Given the description of an element on the screen output the (x, y) to click on. 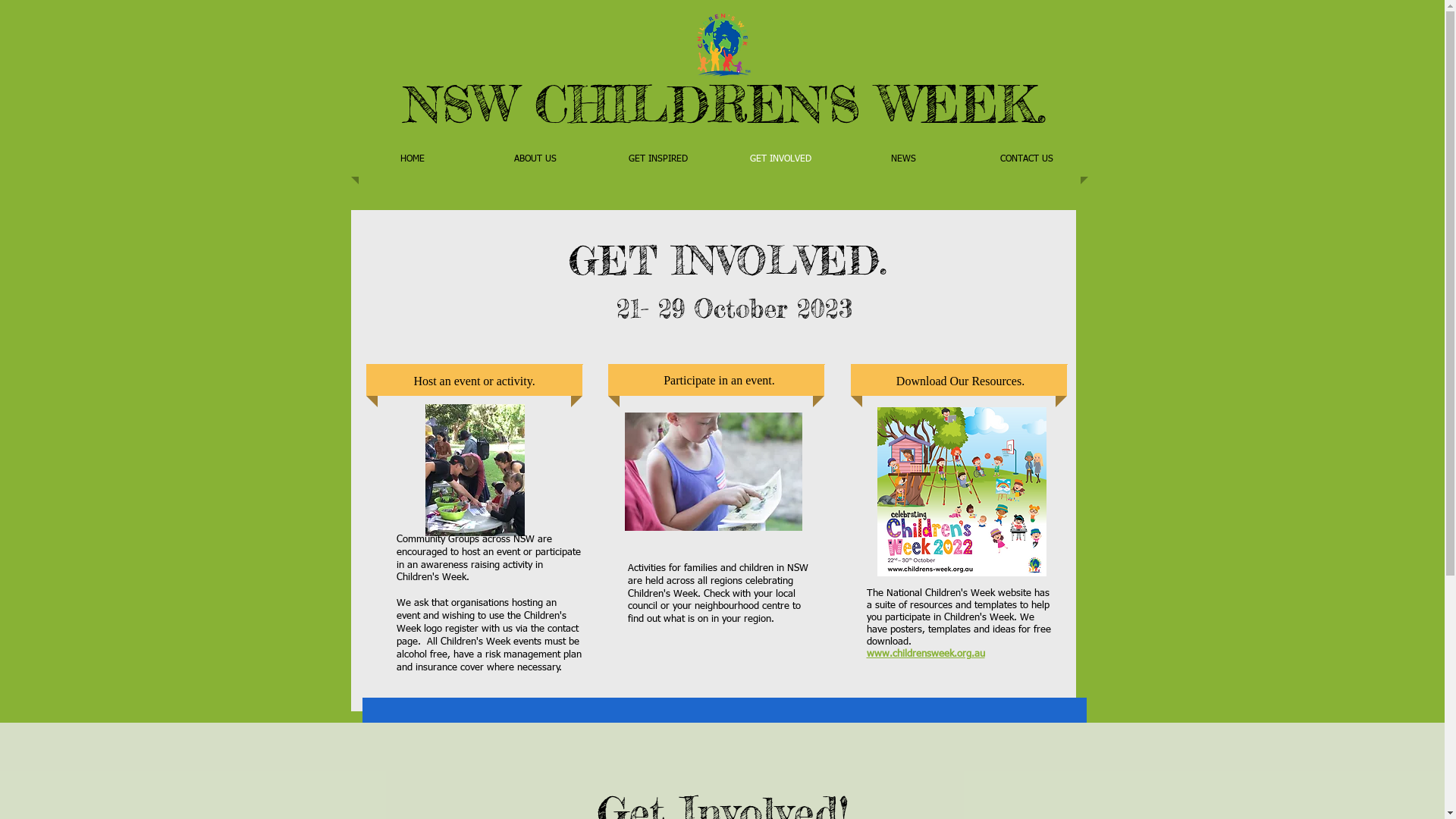
NSW CHILDREN'S WEEK. Element type: text (725, 103)
HOME Element type: text (411, 158)
GET INVOLVED Element type: text (779, 158)
ABOUT US Element type: text (534, 158)
www.childrensweek.org.au Element type: text (925, 653)
NEWS Element type: text (902, 158)
GET INSPIRED Element type: text (657, 158)
CONTACT US Element type: text (1025, 158)
cwcoa_image_logo.png Element type: hover (723, 42)
